Given the description of an element on the screen output the (x, y) to click on. 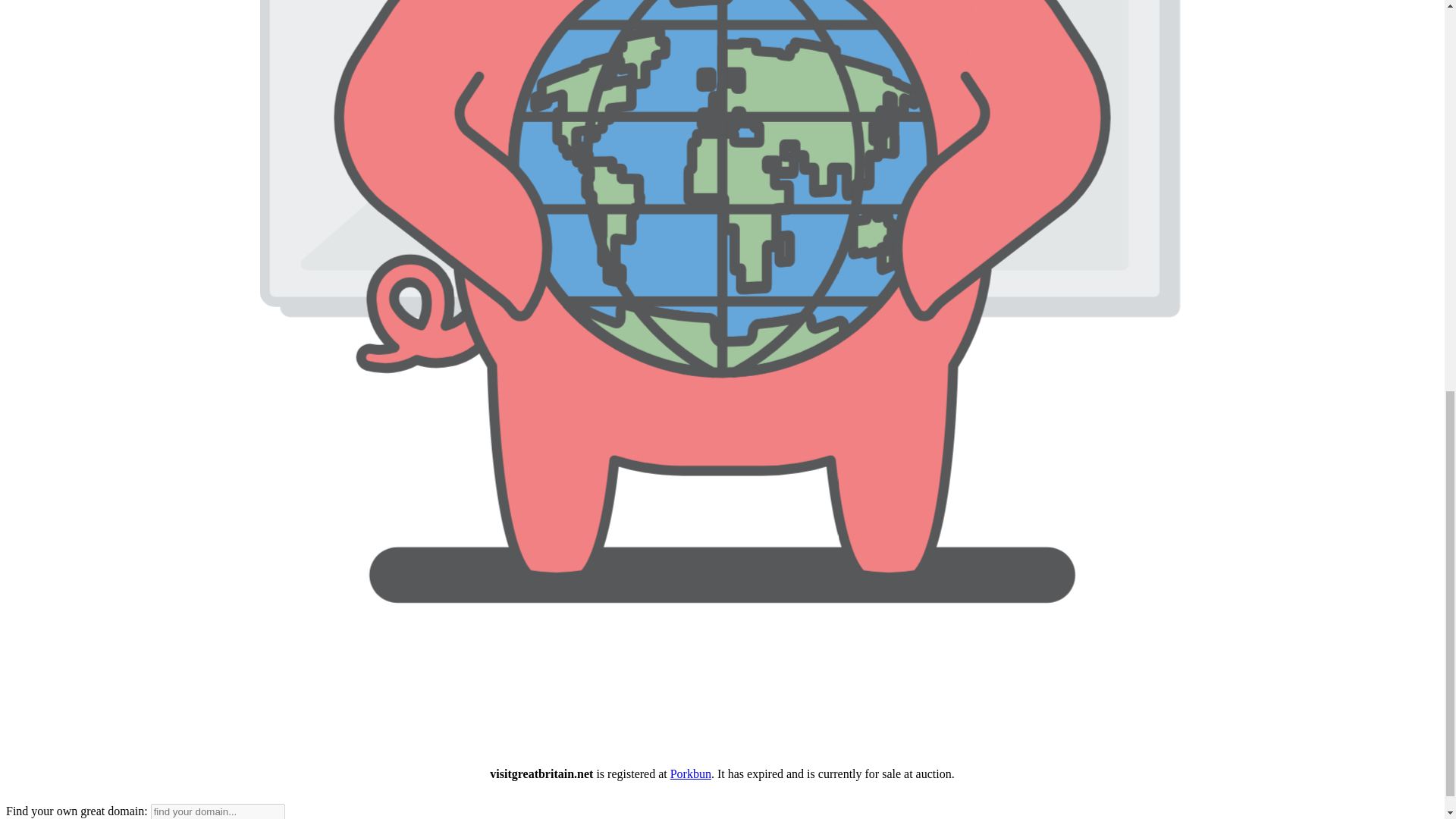
Porkbun (690, 773)
